Given the description of an element on the screen output the (x, y) to click on. 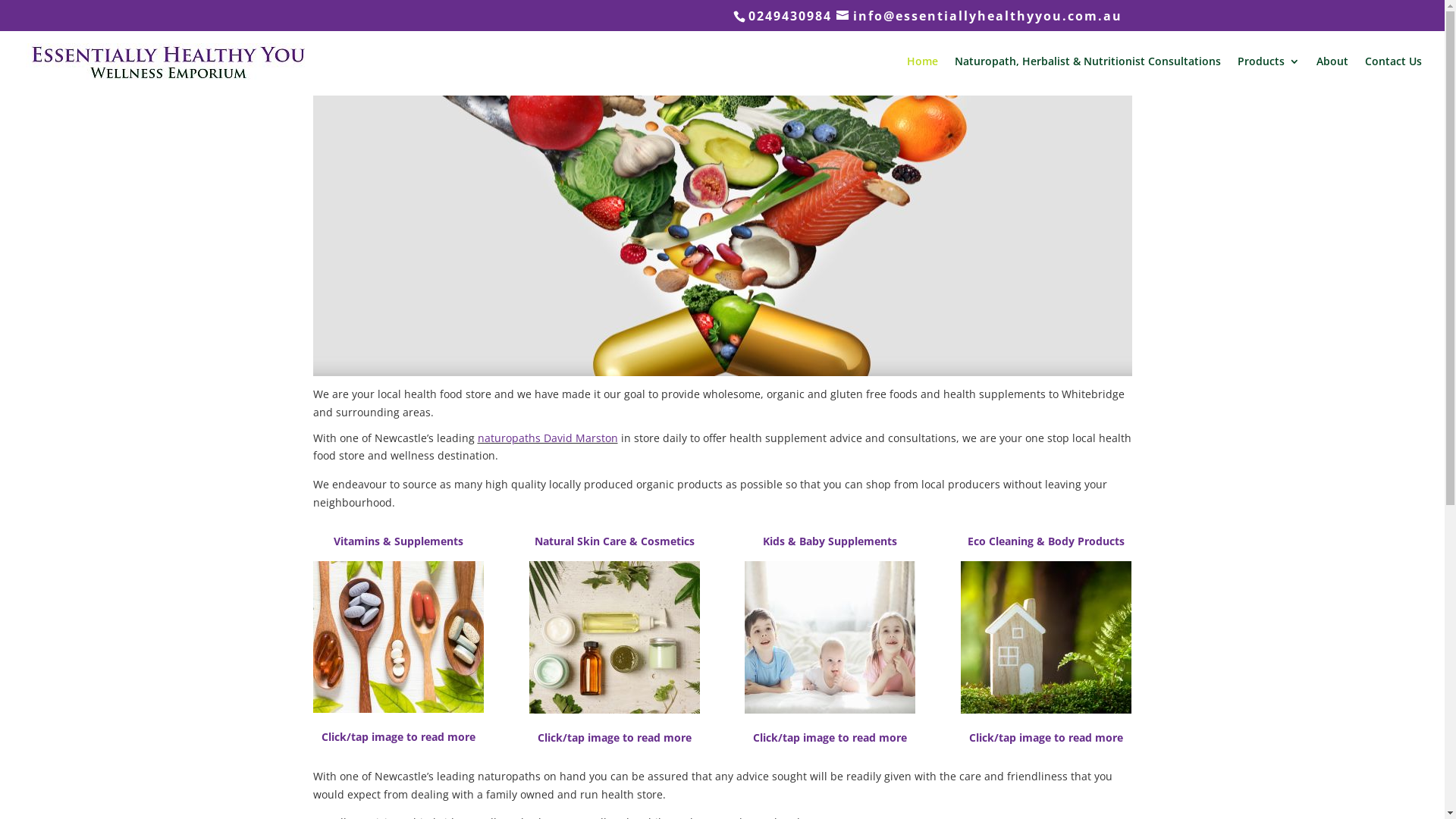
Home Element type: text (922, 73)
naturopaths David Marston Element type: text (547, 437)
About Element type: text (1332, 73)
Naturopath, Herbalist & Nutritionist Consultations Element type: text (1087, 73)
0249430984 Element type: text (789, 15)
Contact Us Element type: text (1393, 73)
info@essentiallyhealthyyou.com.au Element type: text (978, 15)
Products Element type: text (1268, 73)
